Given the description of an element on the screen output the (x, y) to click on. 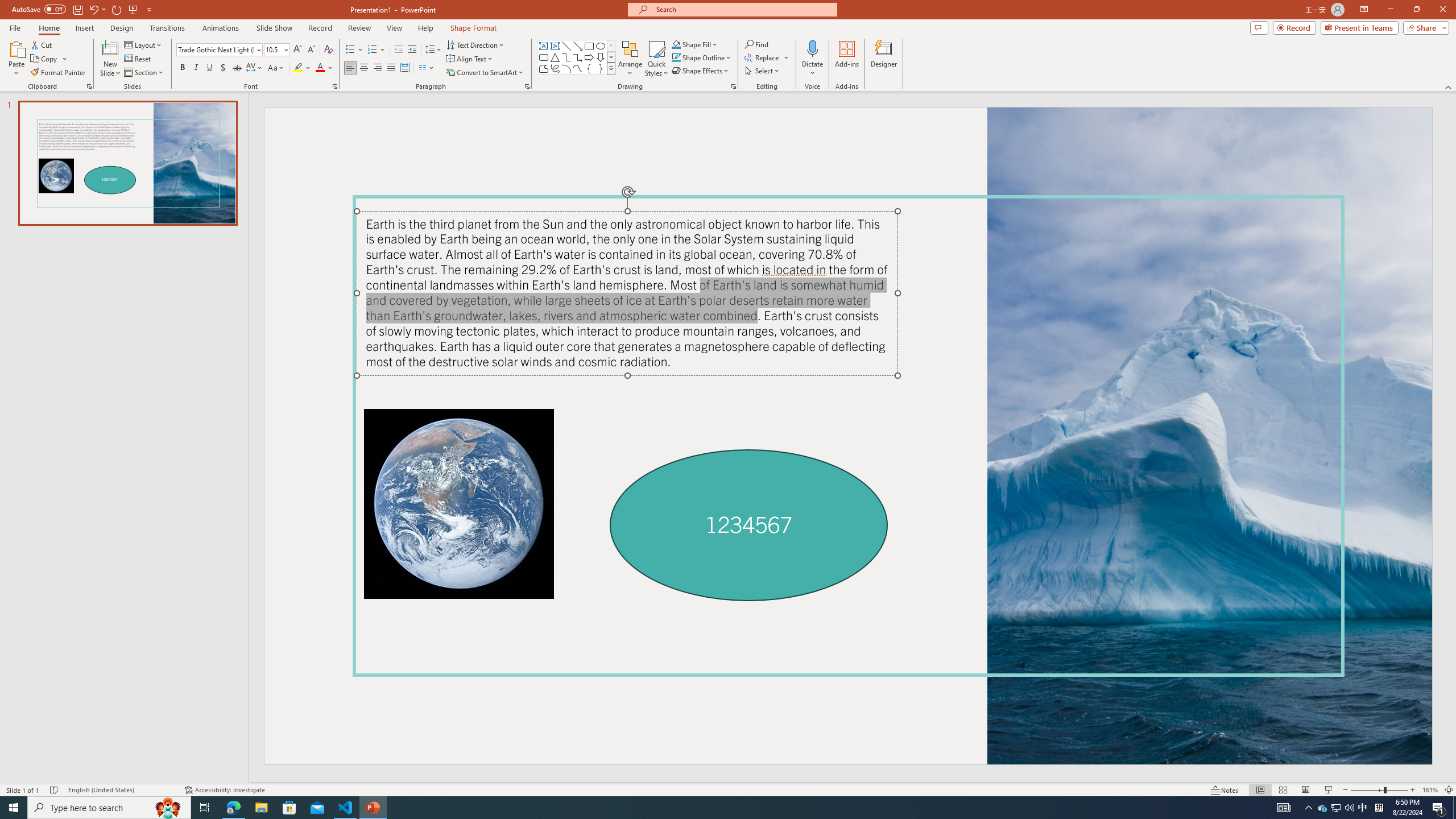
Shape Outline Teal, Accent 1 (675, 56)
